Given the description of an element on the screen output the (x, y) to click on. 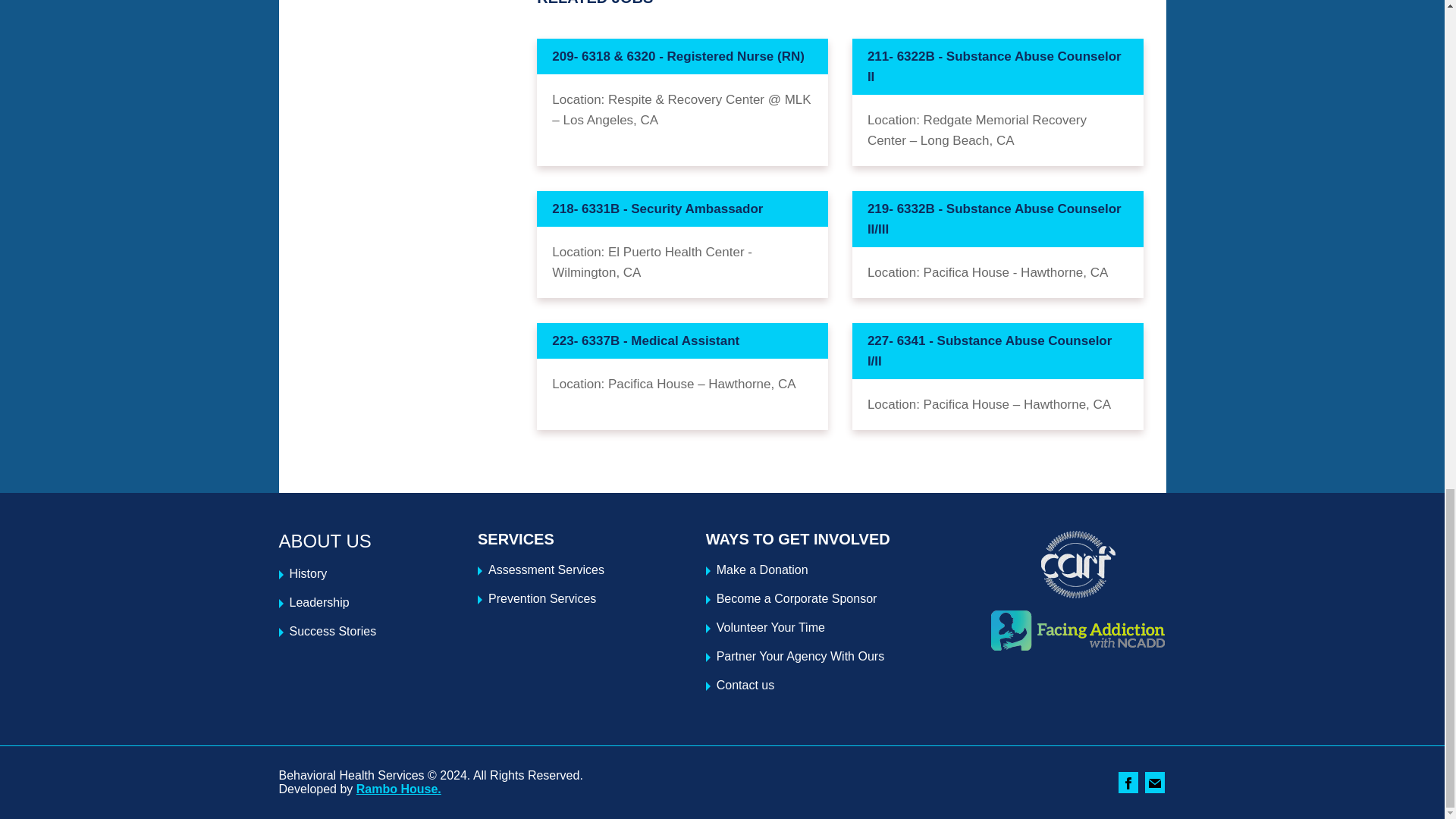
Success Stories (333, 631)
218- 6331B - Security Ambassador (682, 208)
211- 6322B - Substance Abuse Counselor II (996, 66)
History (308, 573)
223- 6337B - Medical Assistant (682, 340)
Leadership (319, 602)
Assessment Services (545, 569)
